Given the description of an element on the screen output the (x, y) to click on. 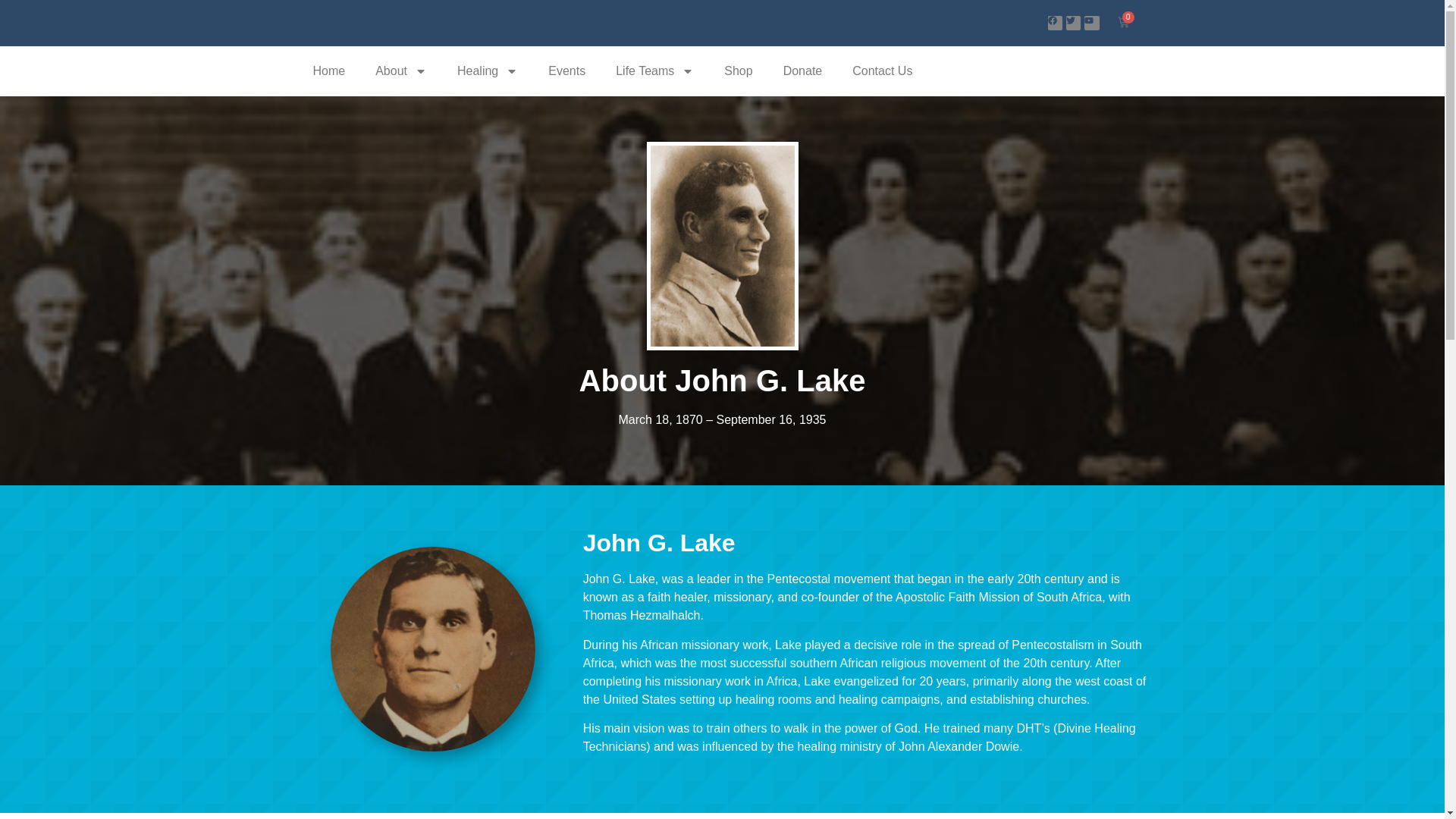
Life Teams (654, 71)
Healing (487, 71)
Shop (738, 71)
About (400, 71)
Events (565, 71)
0 (1123, 22)
Donate (803, 71)
Contact Us (882, 71)
Home (328, 71)
